Given the description of an element on the screen output the (x, y) to click on. 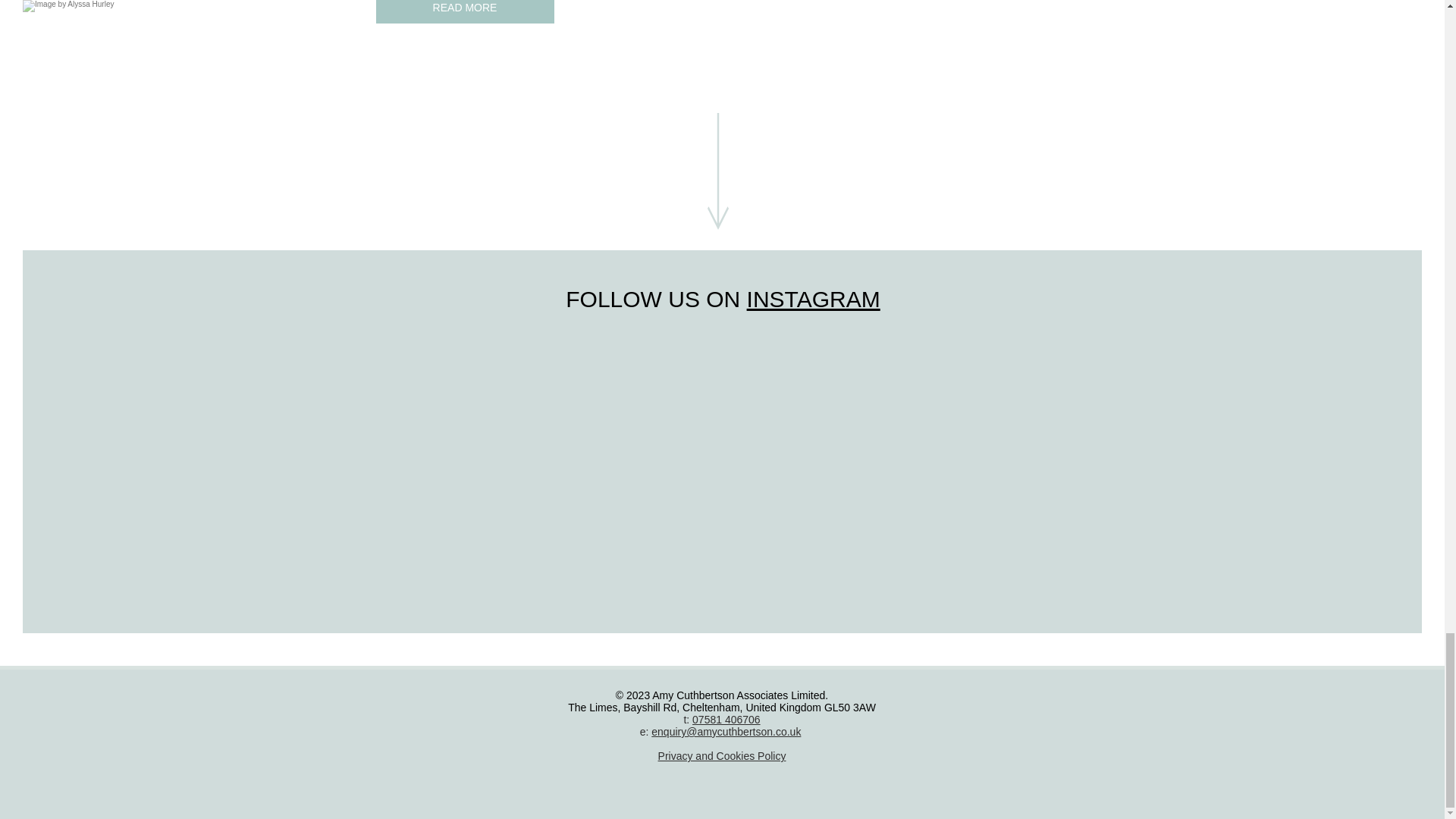
FOLLOW US ON INSTAGRAM (722, 299)
READ MORE (464, 11)
Privacy and Cookies Policy (722, 756)
07581 406706 (726, 719)
